Given the description of an element on the screen output the (x, y) to click on. 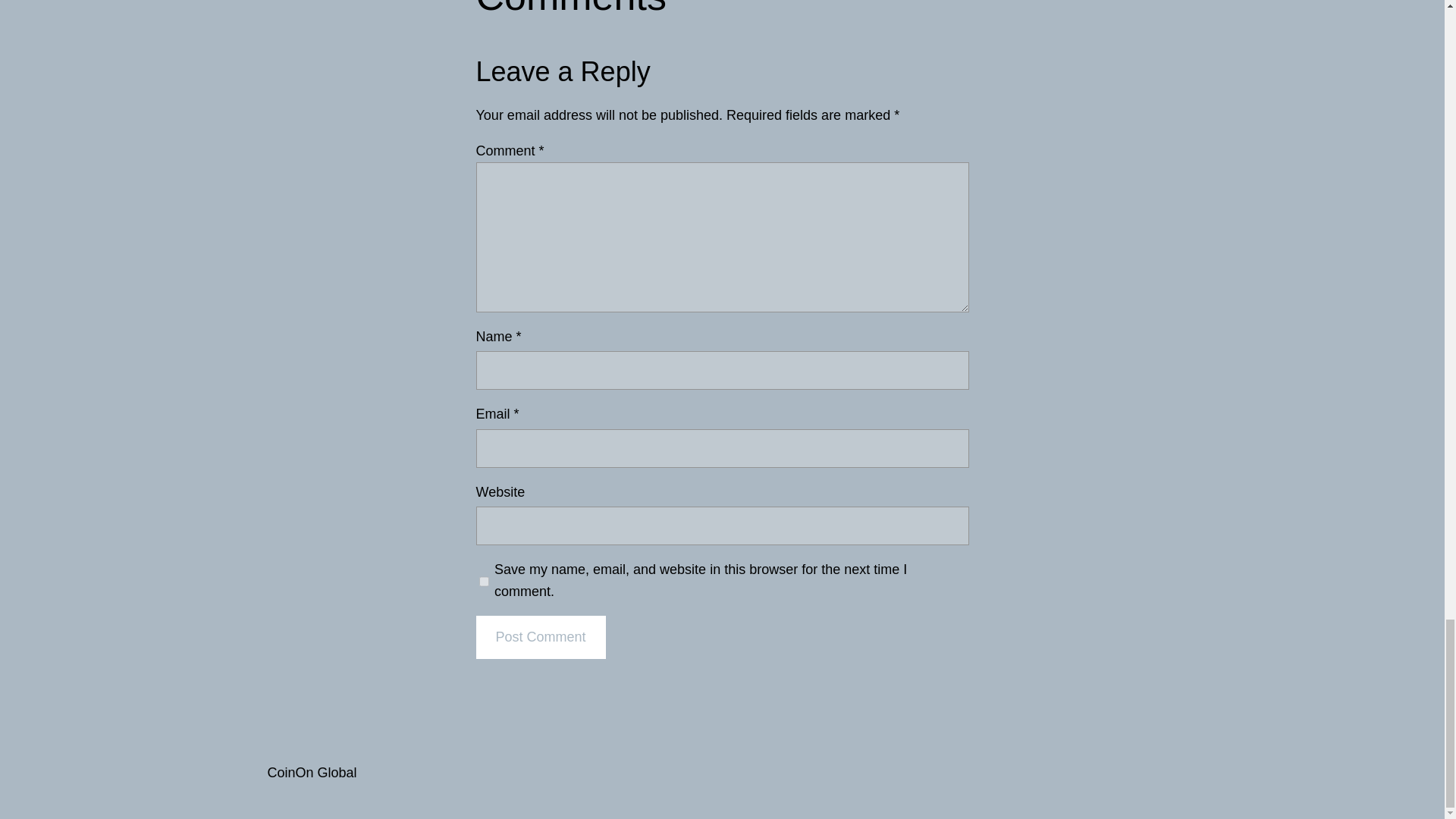
Post Comment (540, 637)
Post Comment (540, 637)
CoinOn Global (311, 772)
